Given the description of an element on the screen output the (x, y) to click on. 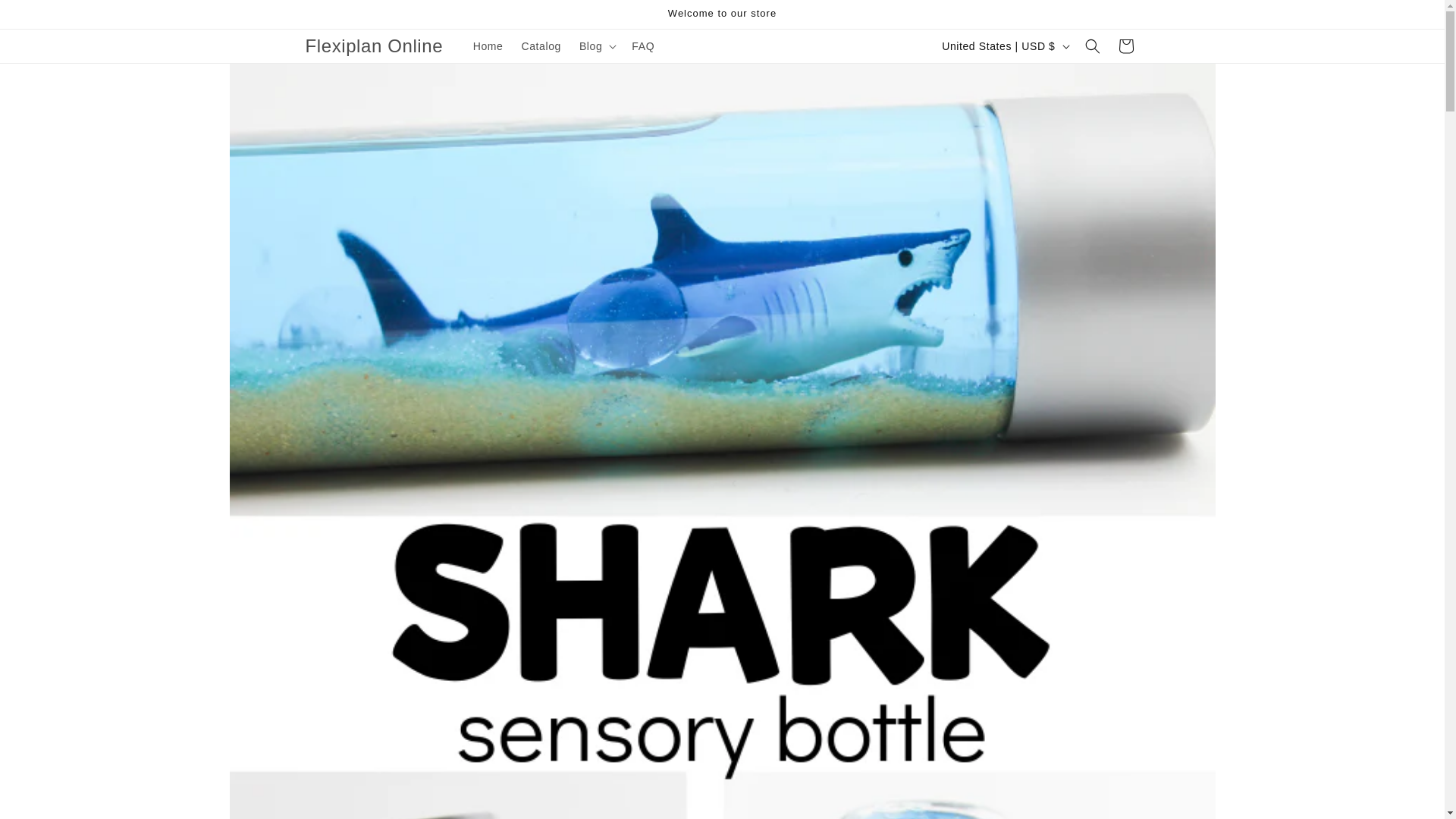
FAQ (643, 46)
Catalog (540, 46)
Home (488, 46)
Skip to content (45, 17)
Flexiplan Online (373, 46)
Cart (1124, 46)
